Given the description of an element on the screen output the (x, y) to click on. 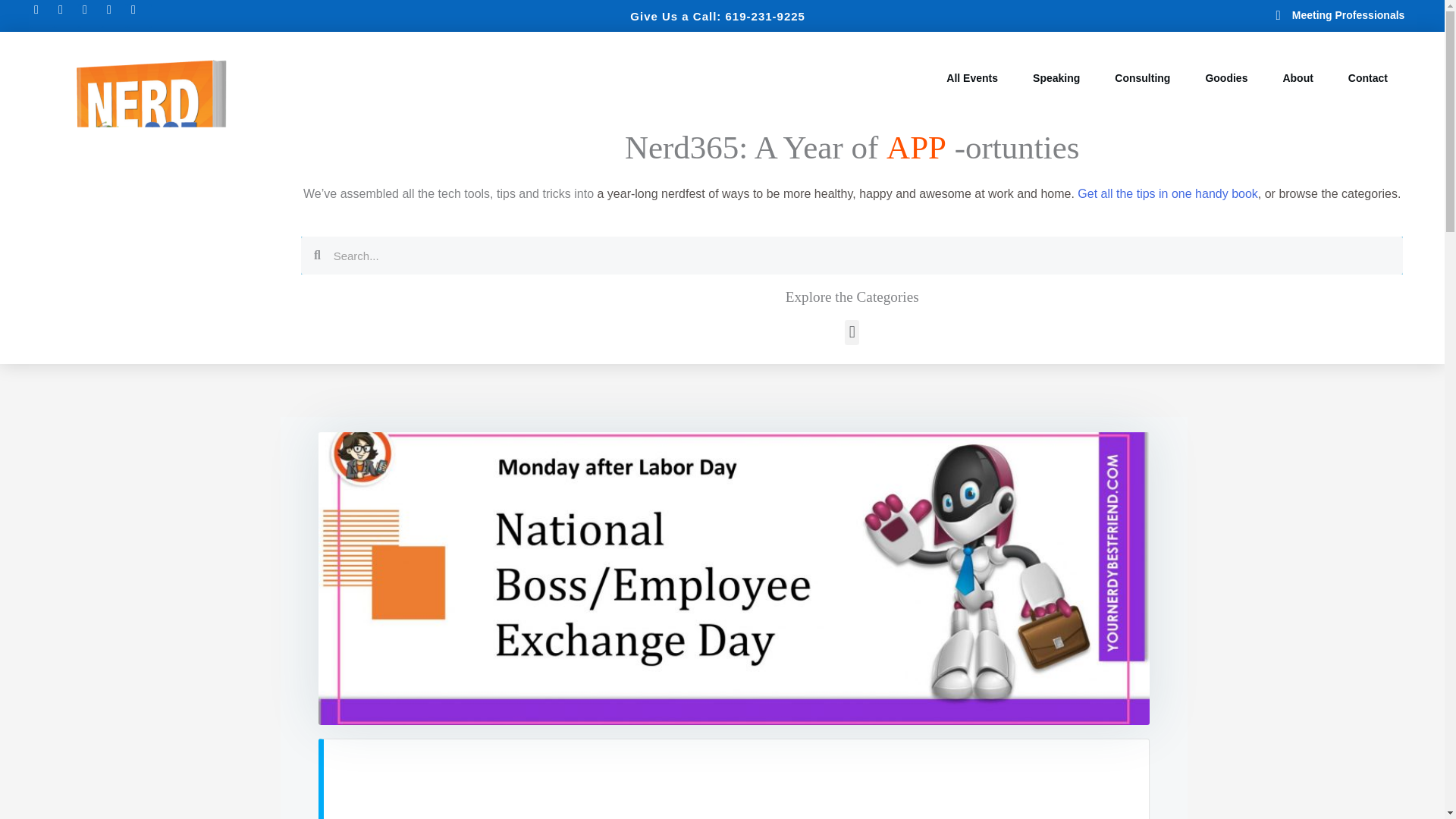
Speaking (1055, 78)
Get all the tips in one handy book (1167, 193)
Contact (1368, 78)
Search (861, 255)
Meeting Professionals (1294, 15)
Consulting (1142, 78)
Goodies (1225, 78)
All Events (972, 78)
